Given the description of an element on the screen output the (x, y) to click on. 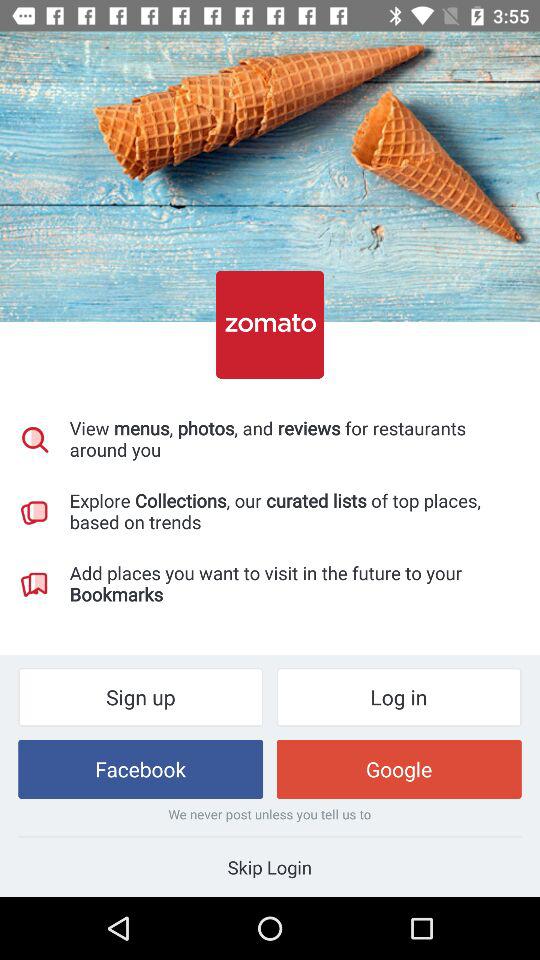
launch icon to the left of log in item (140, 696)
